Given the description of an element on the screen output the (x, y) to click on. 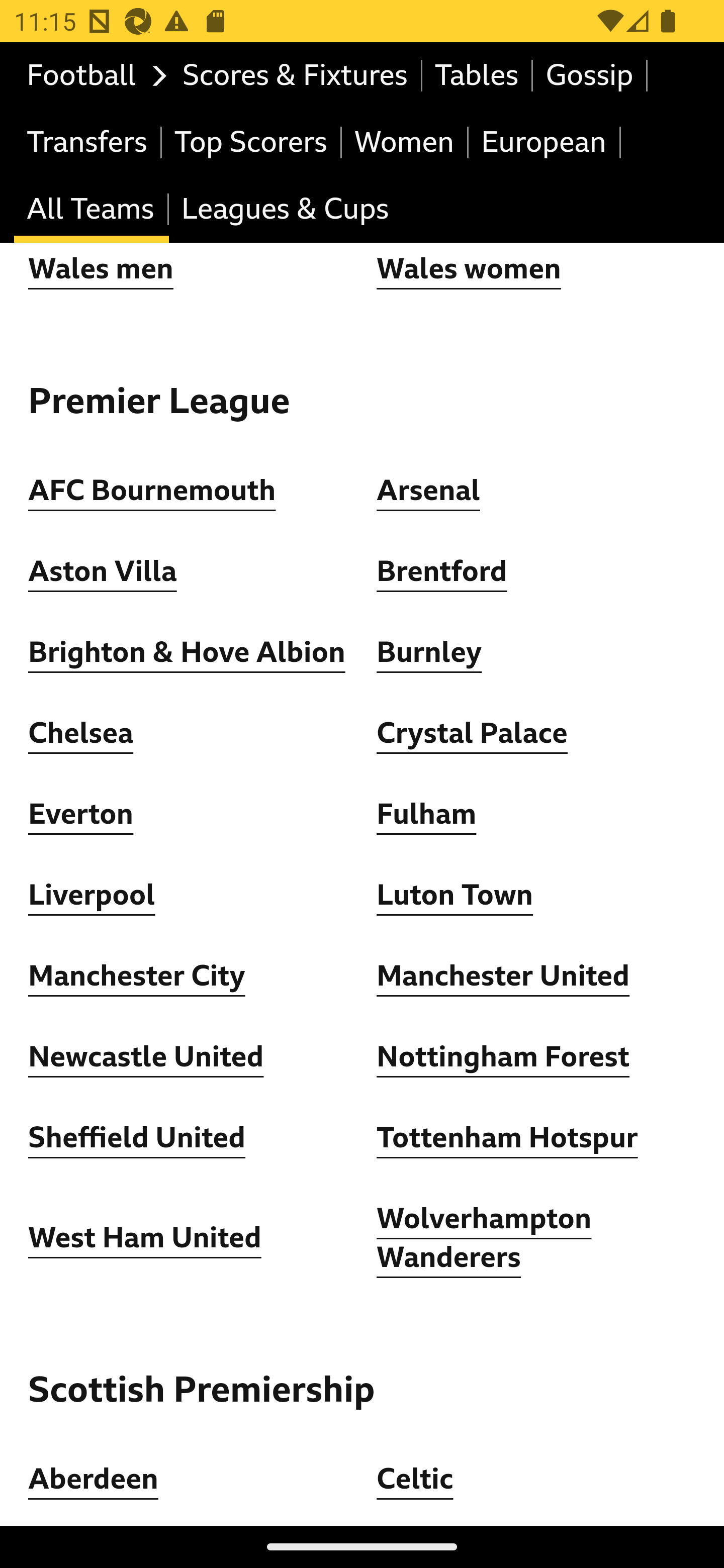
Wales men (100, 268)
Wales women (468, 268)
AFC Bournemouth (151, 490)
Arsenal (428, 490)
Aston Villa (102, 571)
Brentford (442, 571)
Brighton & Hove Albion (187, 652)
Burnley (429, 652)
Chelsea (80, 733)
Crystal Palace (472, 733)
Everton (80, 813)
Fulham (426, 813)
Liverpool (92, 895)
Luton Town (455, 895)
Manchester City (137, 976)
Manchester United (503, 976)
Newcastle United (146, 1056)
Nottingham Forest (503, 1056)
Sheffield United (137, 1137)
Tottenham Hotspur (507, 1137)
Wolverhampton Wanderers (484, 1237)
West Ham United (145, 1238)
Aberdeen (94, 1478)
Celtic (414, 1478)
